Given the description of an element on the screen output the (x, y) to click on. 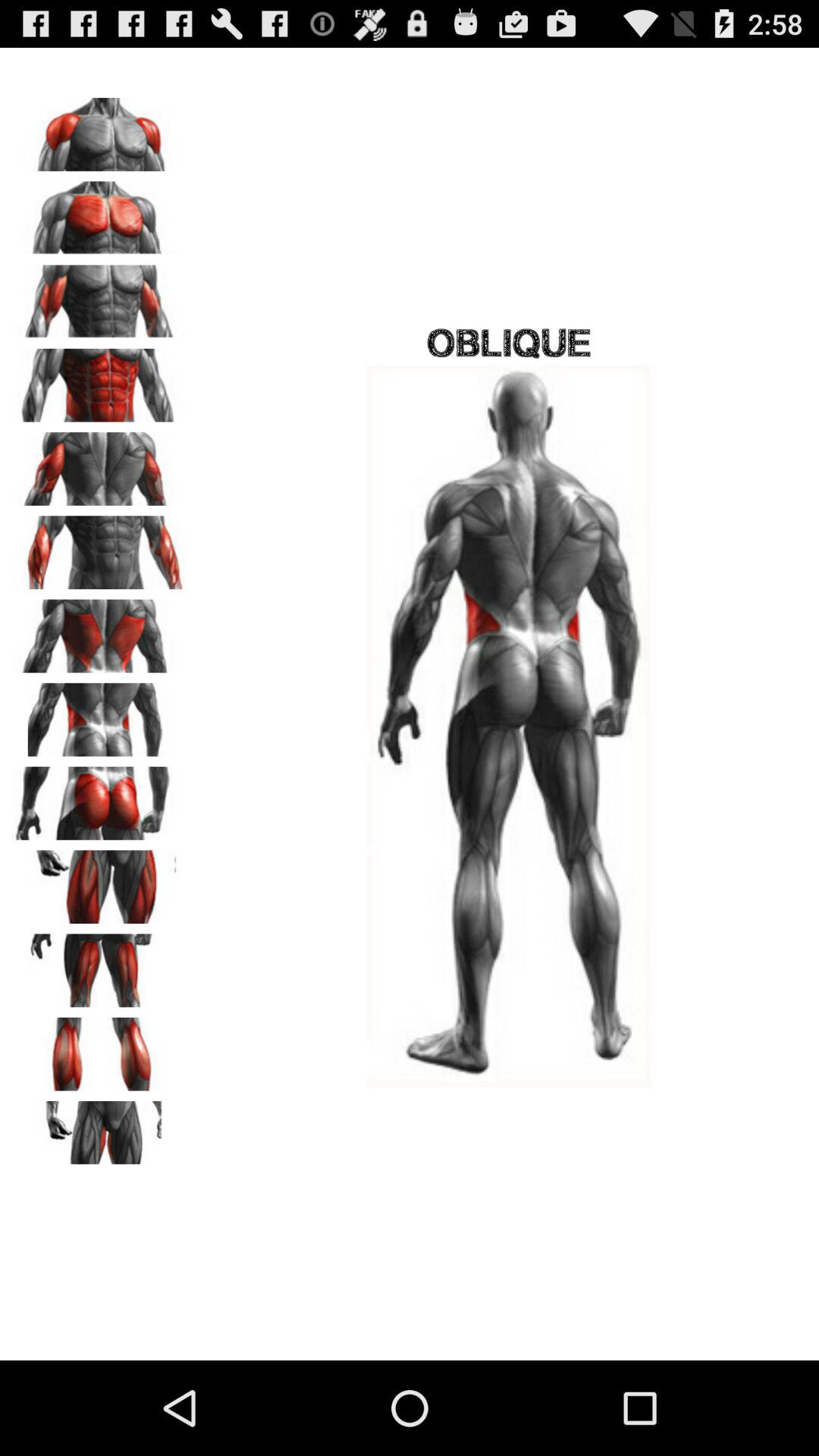
select forearm (99, 547)
